Given the description of an element on the screen output the (x, y) to click on. 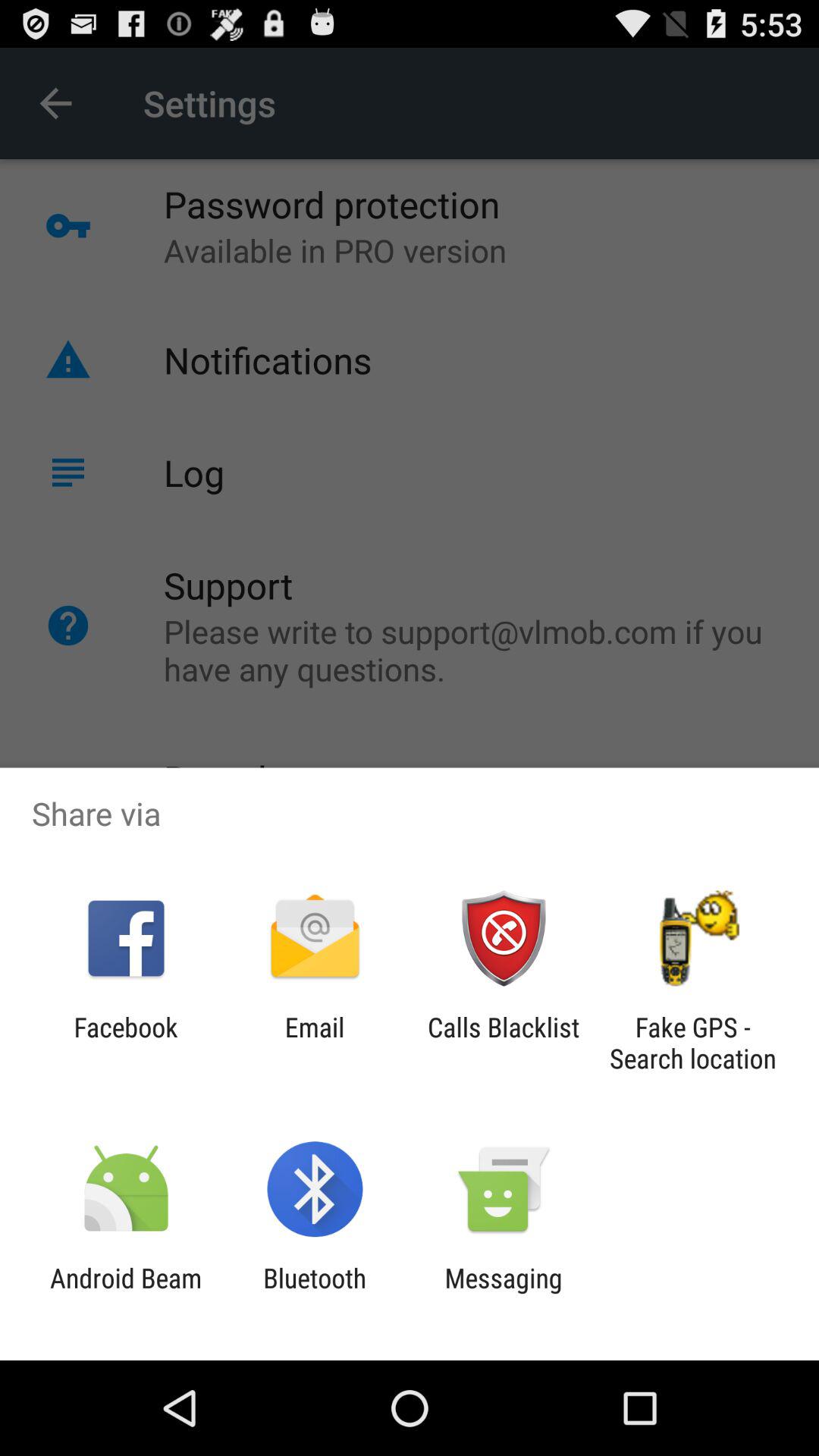
turn on the icon next to android beam app (314, 1293)
